Given the description of an element on the screen output the (x, y) to click on. 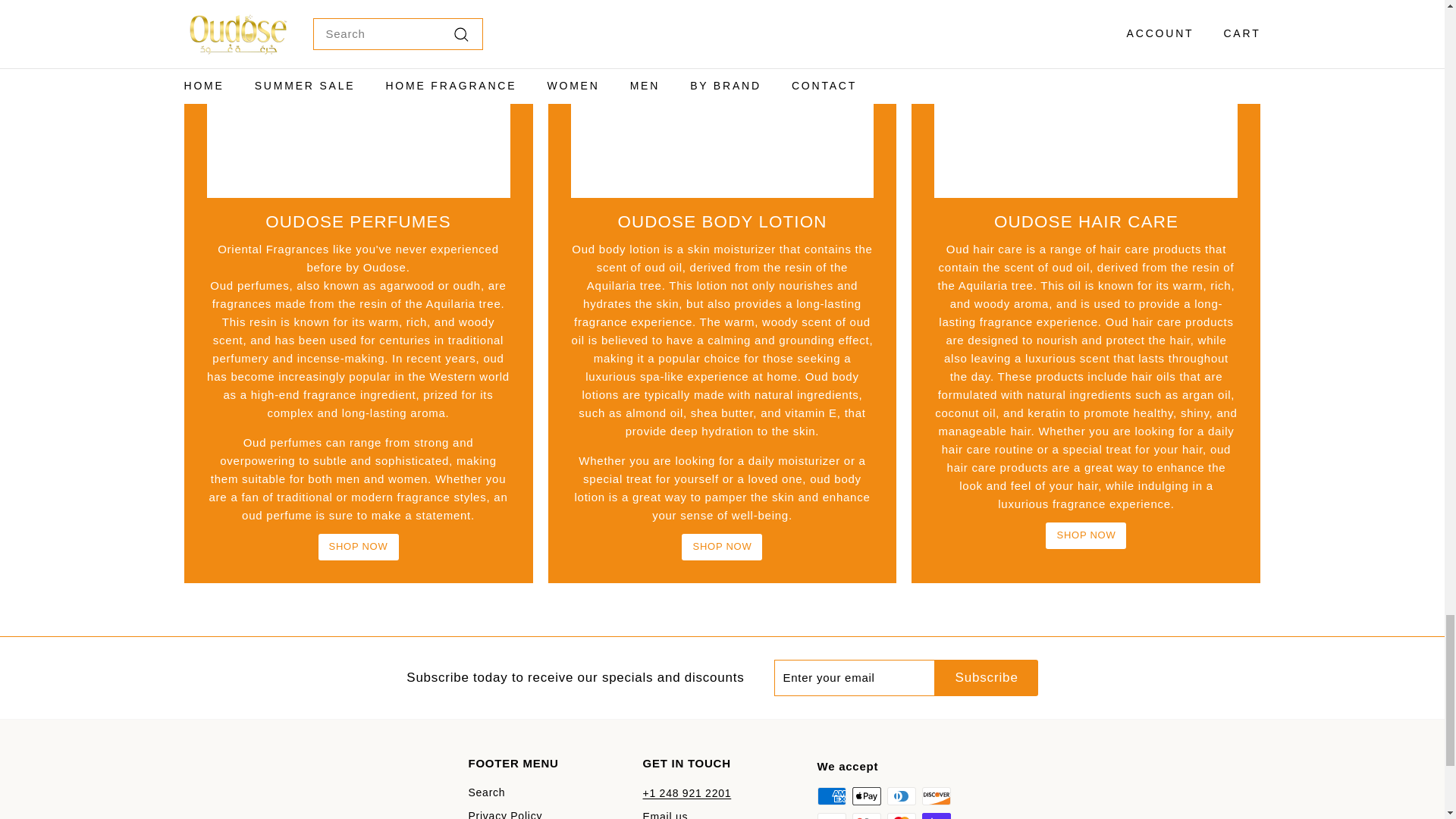
Apple Pay (865, 796)
Discover (935, 796)
Mastercard (900, 816)
Diners Club (900, 796)
Shop Pay (935, 816)
Google Pay (865, 816)
Meta Pay (830, 816)
American Express (830, 796)
